Given the description of an element on the screen output the (x, y) to click on. 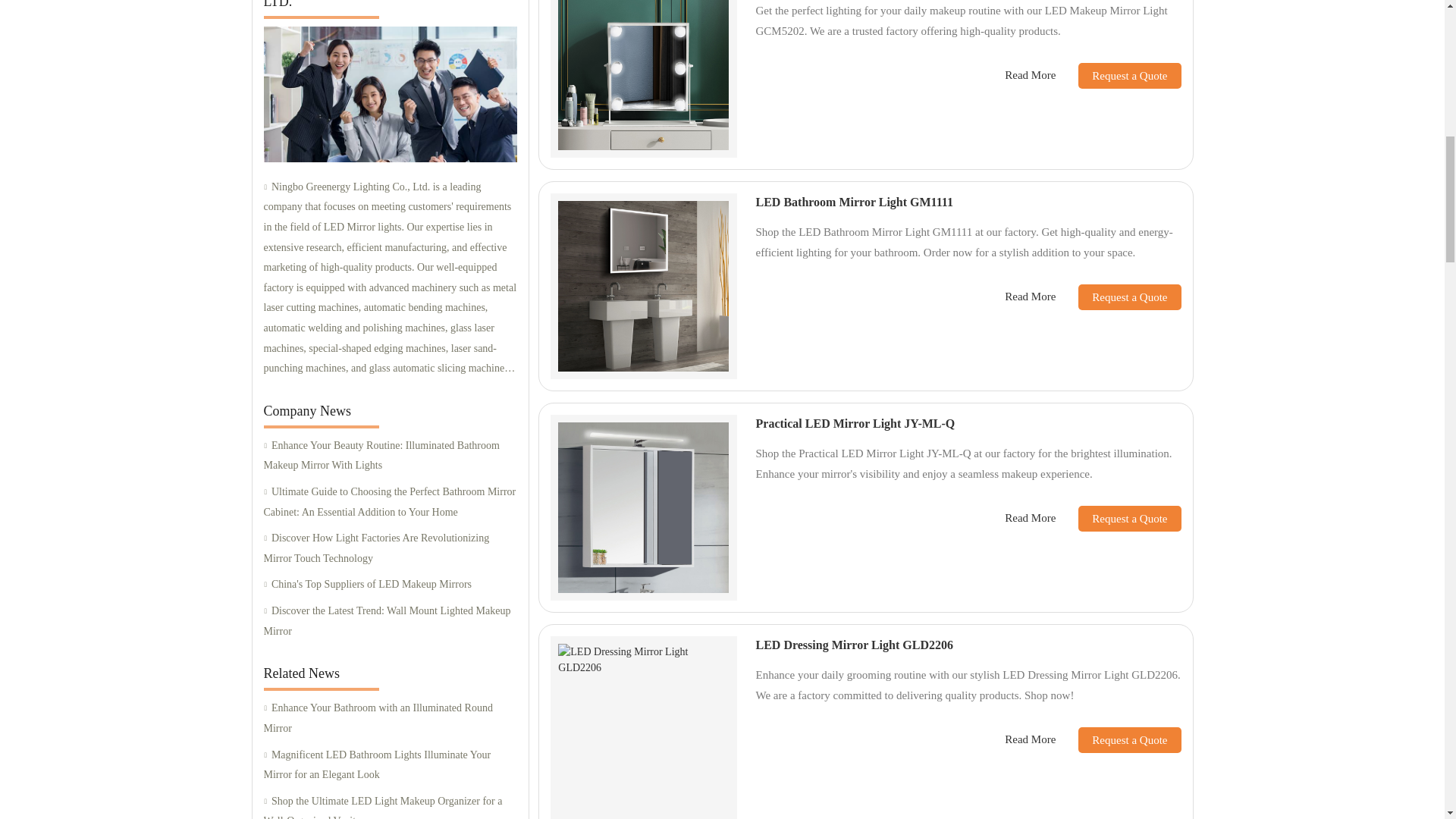
Request a Quote (1117, 297)
Read More (1029, 296)
Request a Quote (1117, 75)
Discover the Latest Trend: Wall Mount Lighted Makeup Mirror (389, 621)
Read More (1029, 75)
China's Top Suppliers of LED Makeup Mirrors (389, 584)
